Given the description of an element on the screen output the (x, y) to click on. 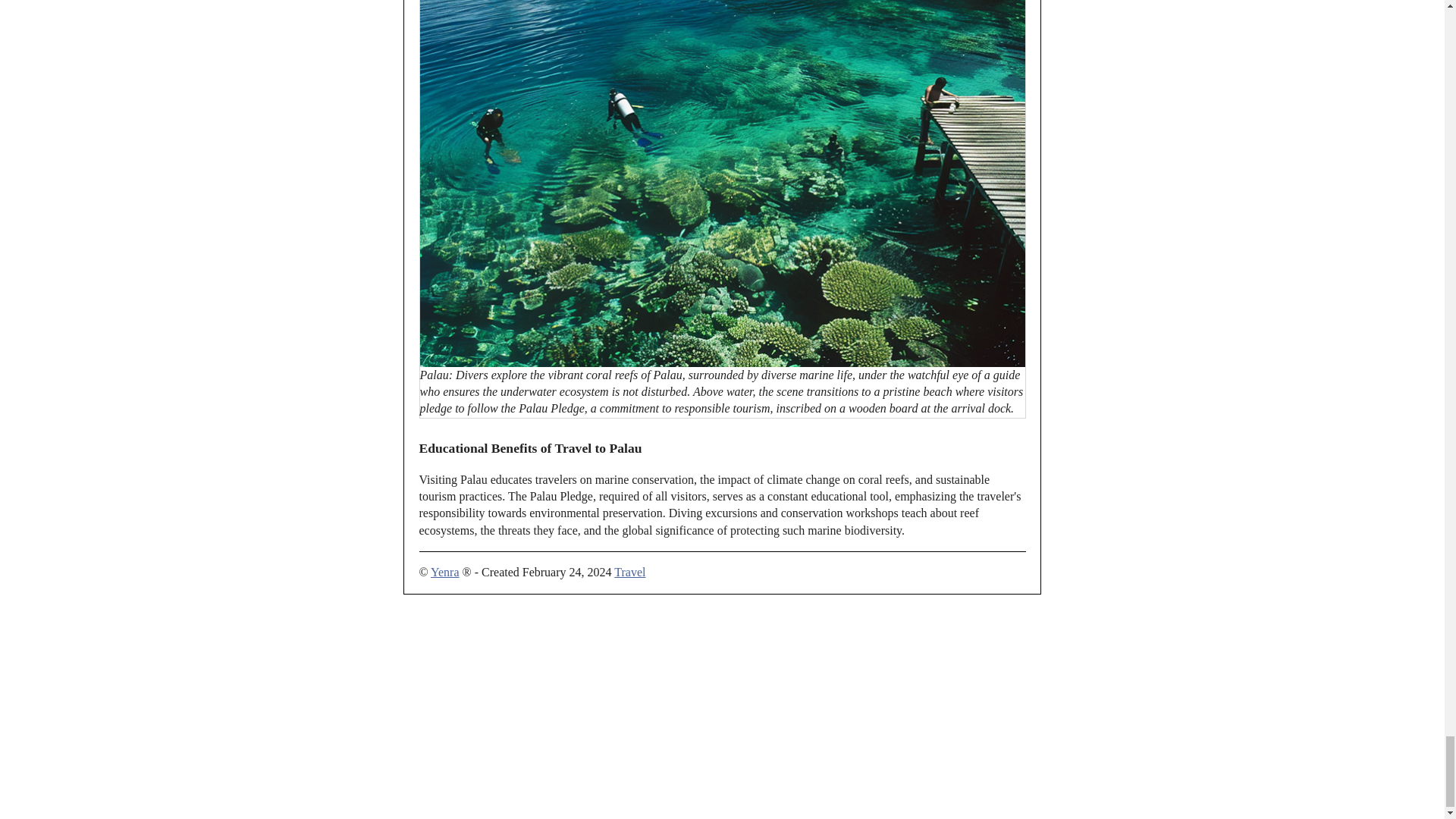
Travel (629, 571)
Yenra (444, 571)
